Given the description of an element on the screen output the (x, y) to click on. 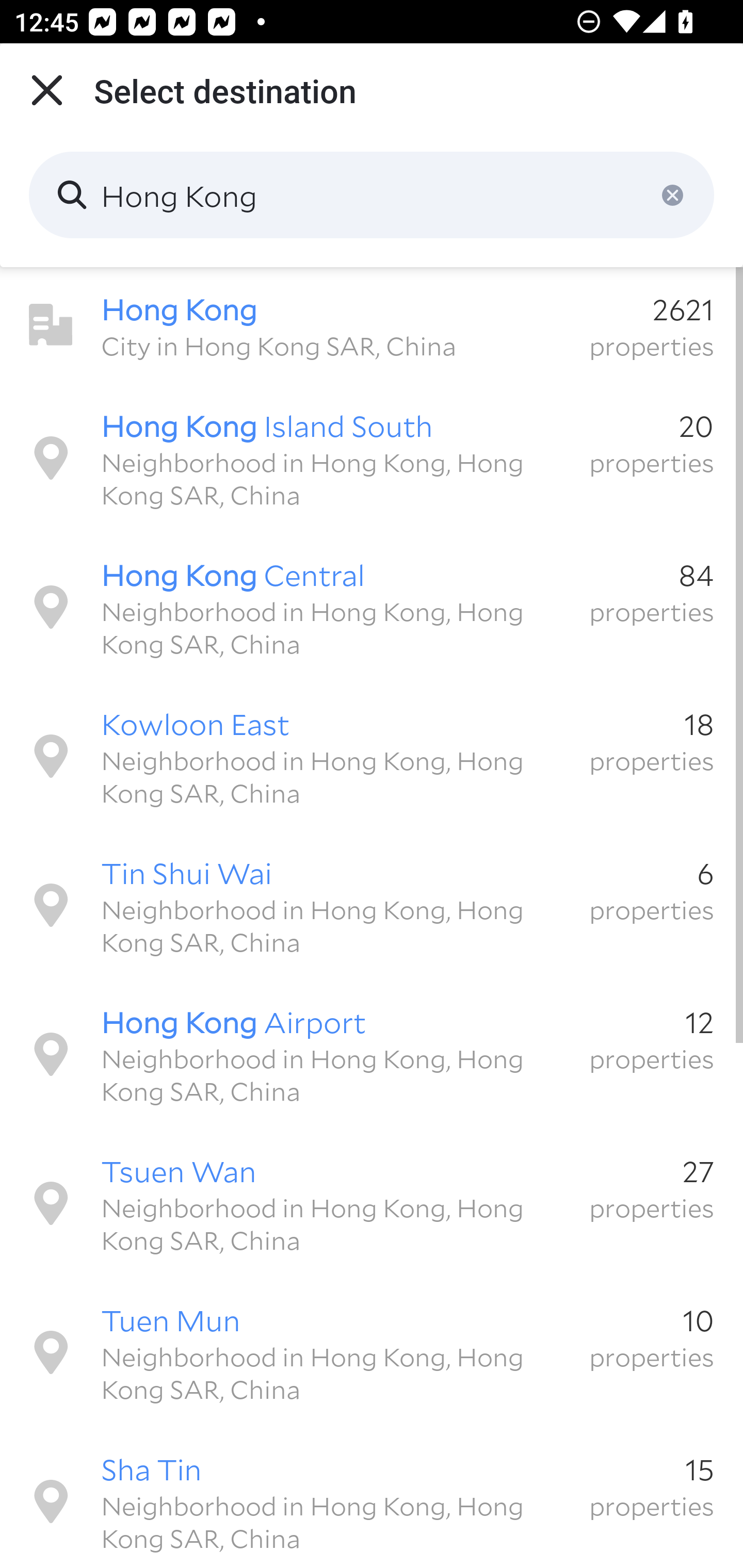
Hong Kong (371, 195)
